Given the description of an element on the screen output the (x, y) to click on. 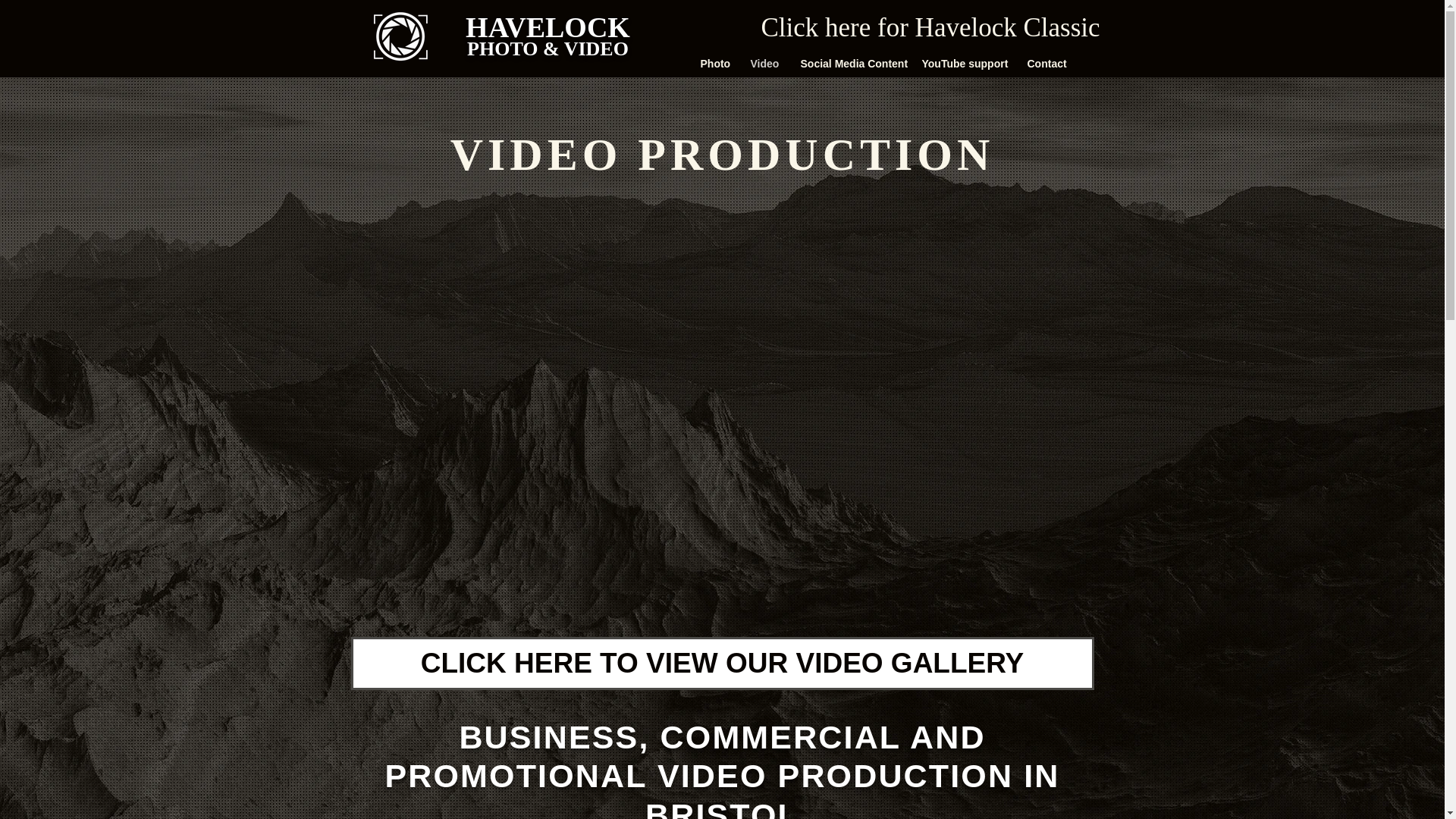
CLICK HERE TO VIEW OUR VIDEO GALLERY (721, 663)
Video (763, 63)
Social Media Content (849, 63)
Photo (713, 63)
YouTube support (962, 63)
Contact (1045, 63)
Click here for Havelock Classic (930, 27)
